Given the description of an element on the screen output the (x, y) to click on. 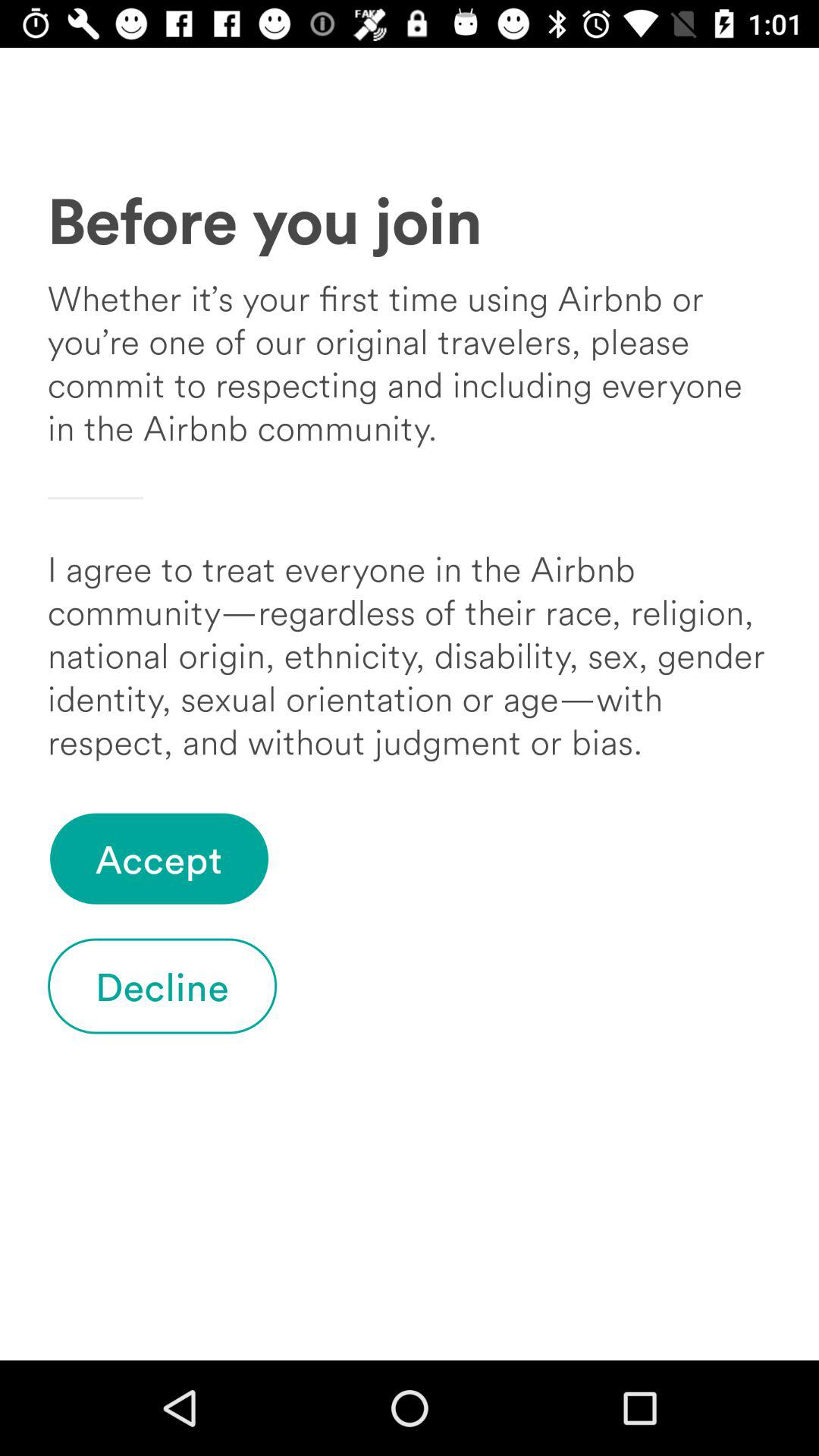
swipe to the accept item (158, 858)
